Given the description of an element on the screen output the (x, y) to click on. 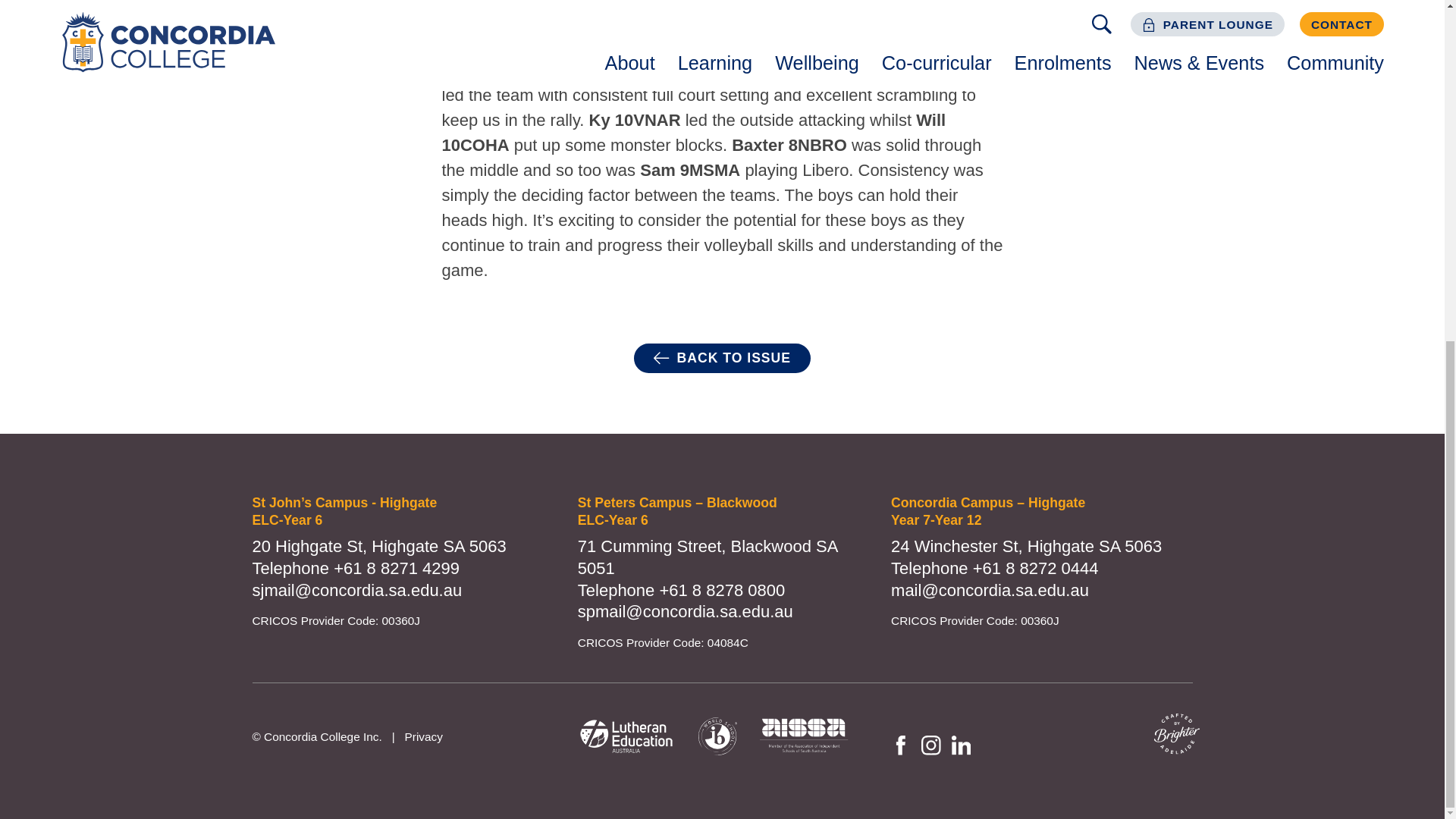
BACK TO ISSUE (721, 358)
Privacy (423, 736)
